Given the description of an element on the screen output the (x, y) to click on. 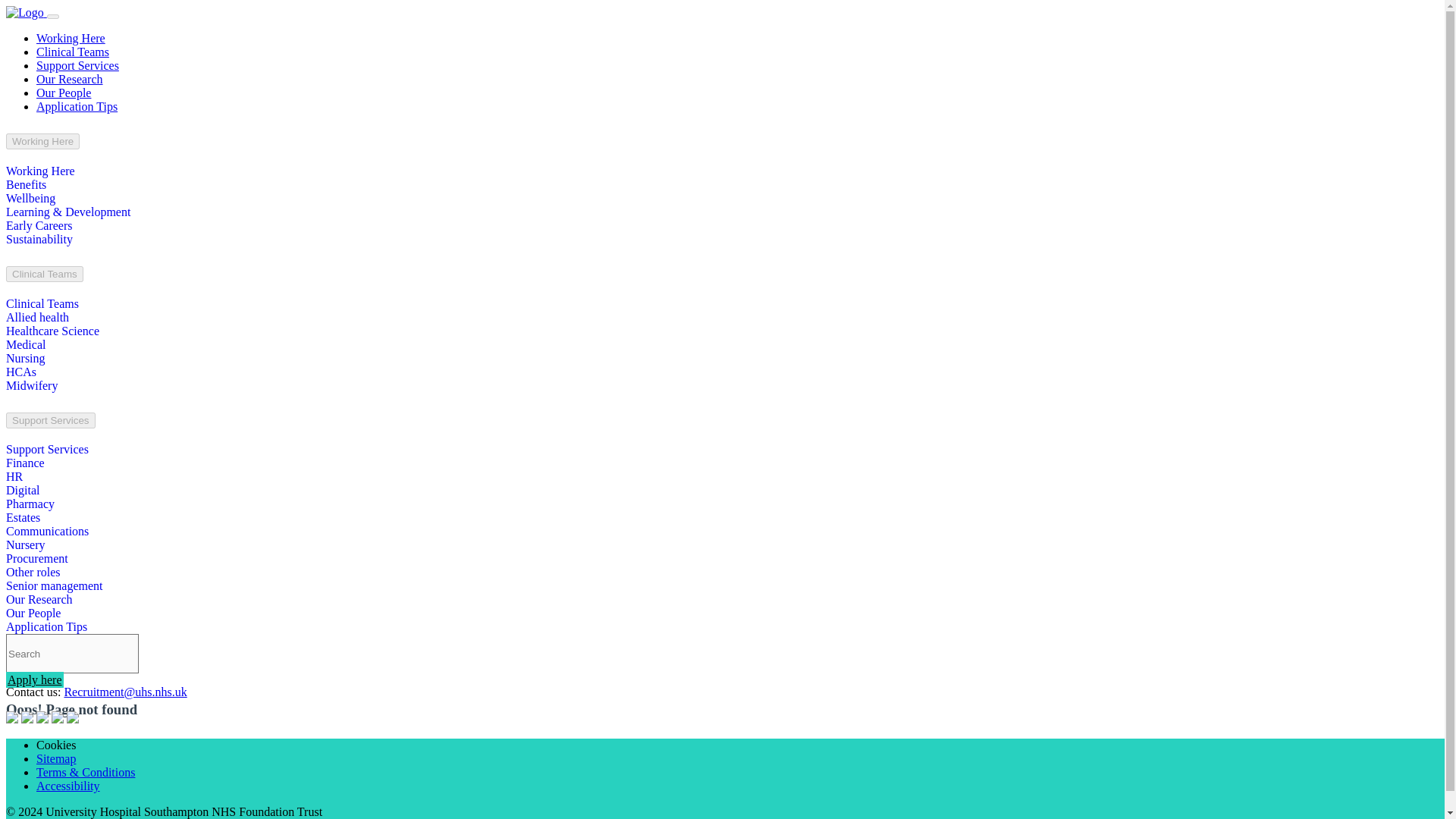
Support Services (77, 65)
Allied health (36, 317)
Clinical Teams (72, 51)
Working Here (70, 38)
Wellbeing (30, 197)
Working Here (42, 141)
Working Here (40, 170)
Early Careers (38, 225)
Clinical Teams (41, 303)
Our People (63, 92)
Benefits (25, 184)
Clinical Teams (43, 273)
Application Tips (76, 106)
Healthcare Science (52, 330)
Our Research (69, 78)
